Given the description of an element on the screen output the (x, y) to click on. 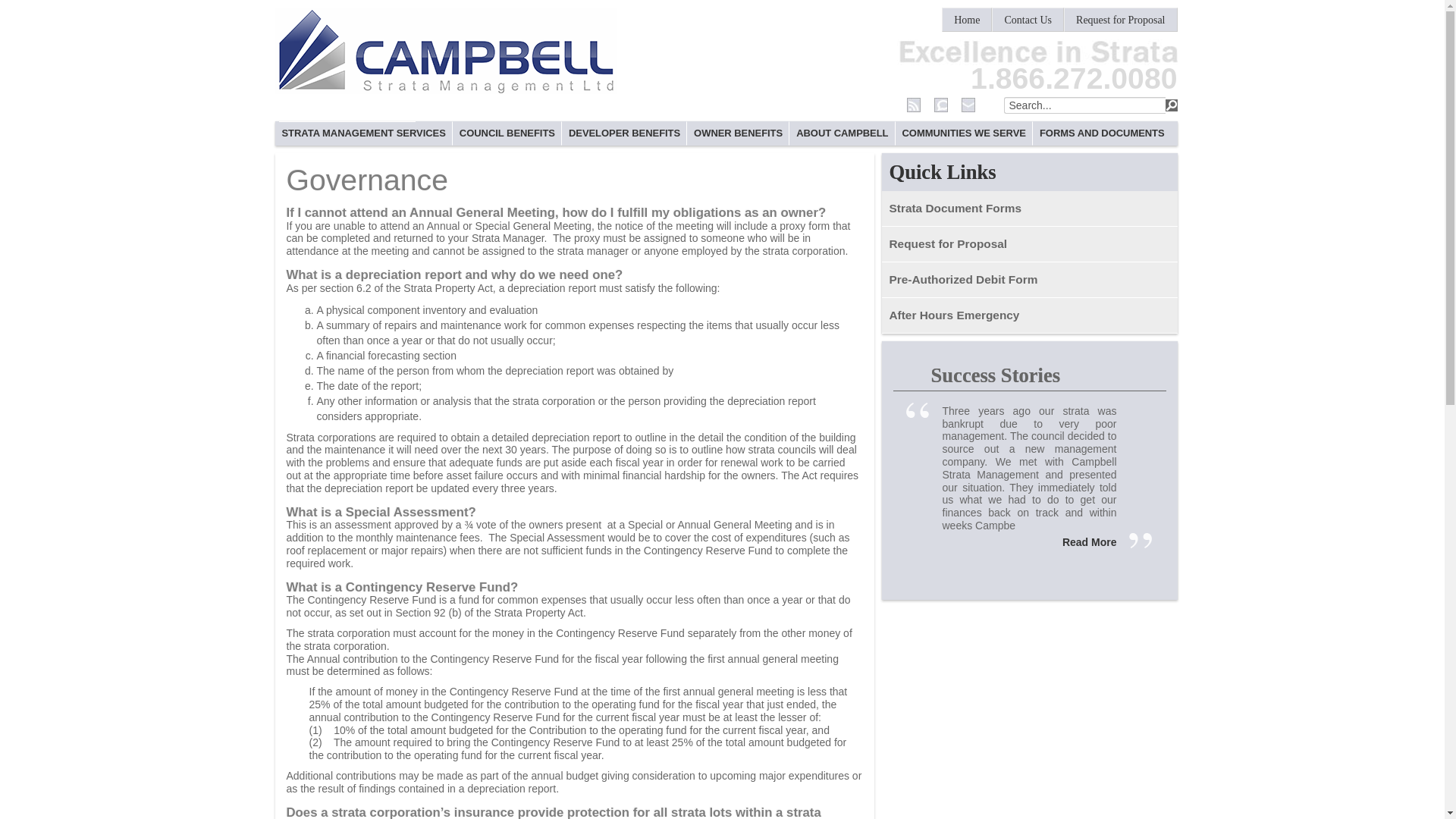
Search... (1085, 105)
Request for Proposal (1120, 19)
Contact Us (1027, 19)
Search... (1085, 105)
Home (966, 19)
Campbell Strata Management (445, 50)
